Given the description of an element on the screen output the (x, y) to click on. 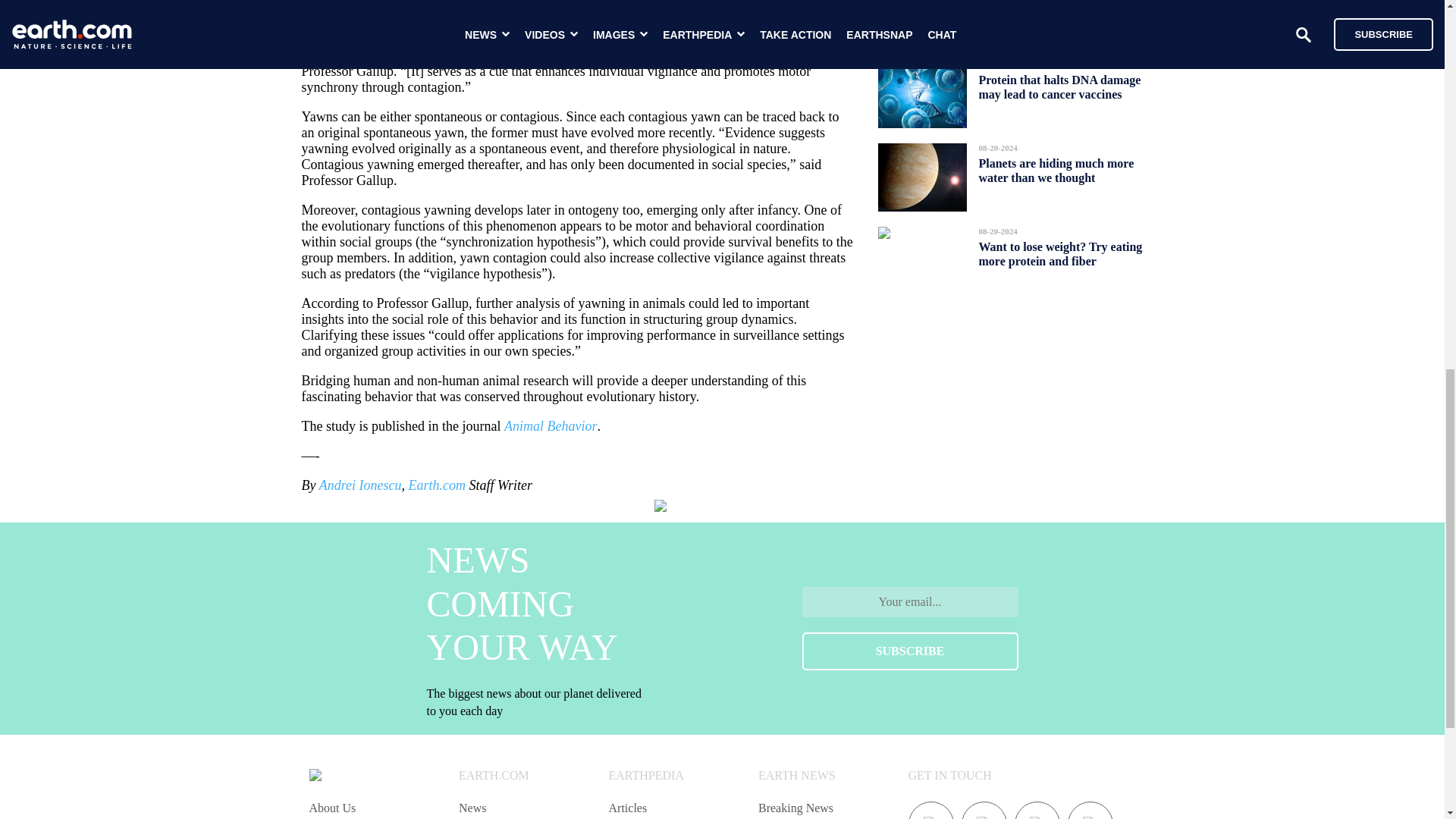
Protein that halts DNA damage may lead to cancer vaccines (1059, 87)
Want to lose weight? Try eating more protein and fiber (1059, 253)
SUBSCRIBE (909, 651)
Andrei Ionescu (359, 485)
Earth.com (436, 485)
Animal Behavior (549, 426)
Planets are hiding much more water than we thought (1056, 170)
